Given the description of an element on the screen output the (x, y) to click on. 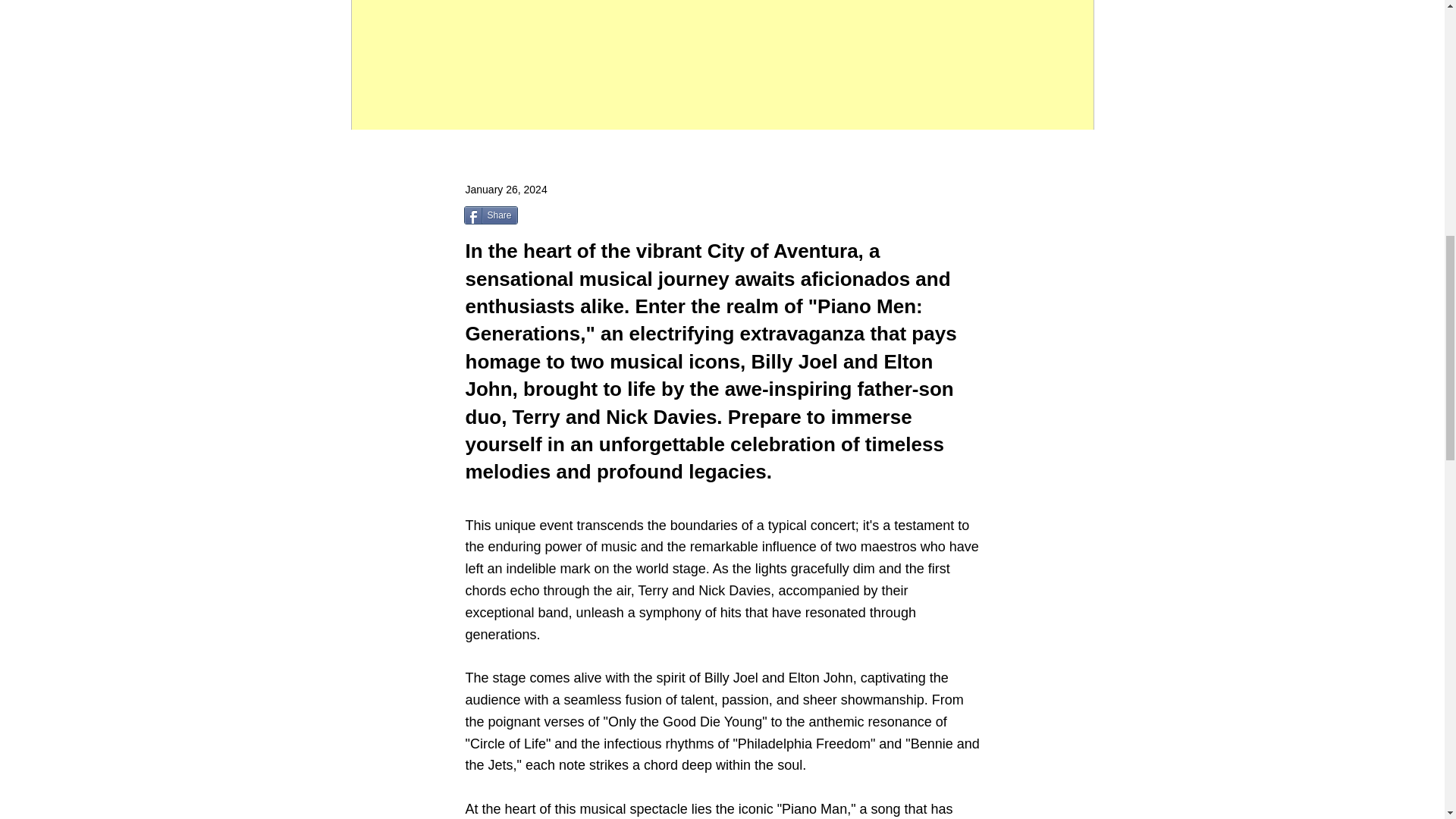
Twitter Tweet (557, 216)
Share (491, 215)
Share (491, 215)
